Given the description of an element on the screen output the (x, y) to click on. 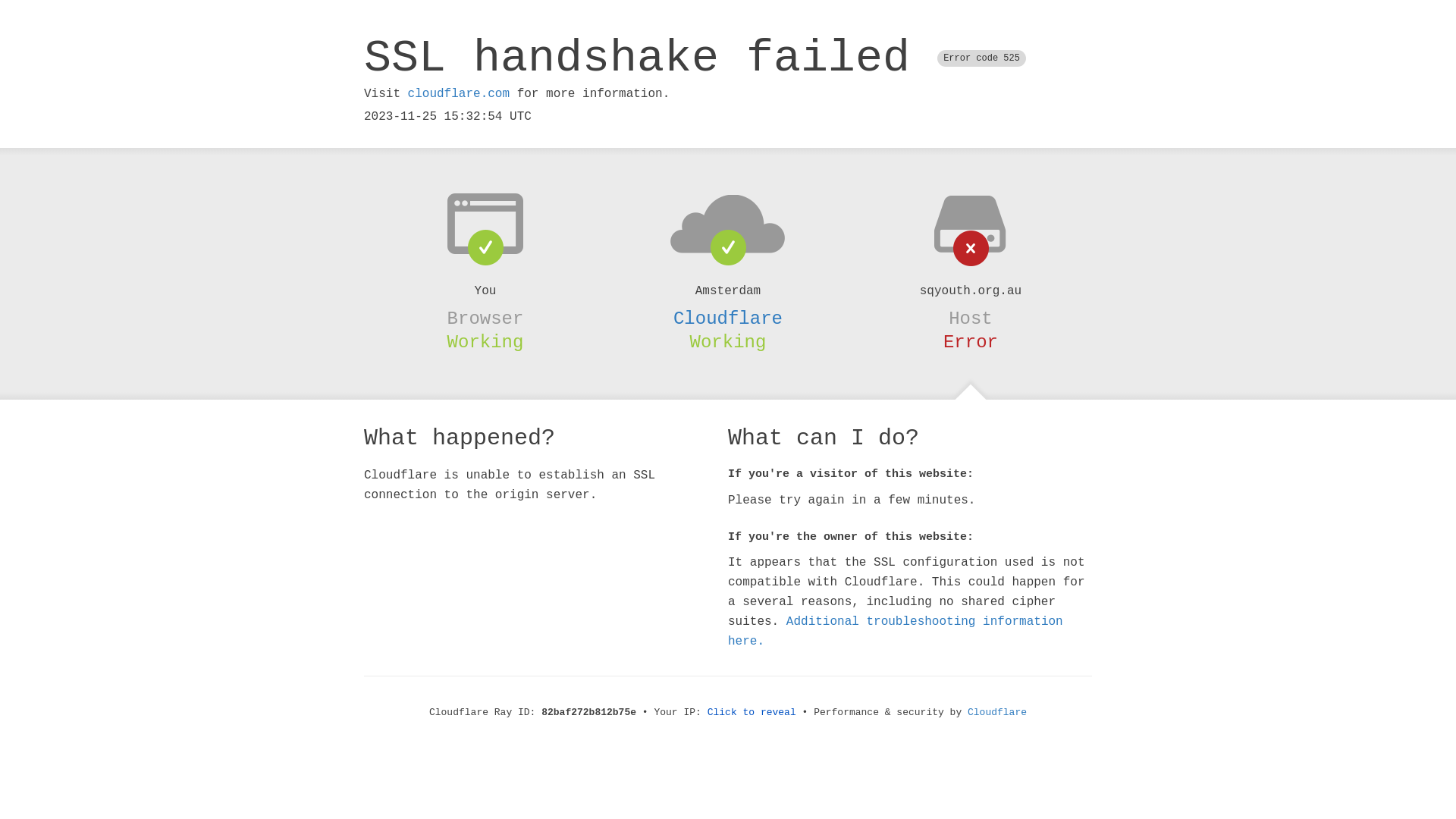
Click to reveal Element type: text (751, 712)
Cloudflare Element type: text (727, 318)
Additional troubleshooting information here. Element type: text (895, 631)
cloudflare.com Element type: text (458, 93)
Cloudflare Element type: text (996, 712)
